Given the description of an element on the screen output the (x, y) to click on. 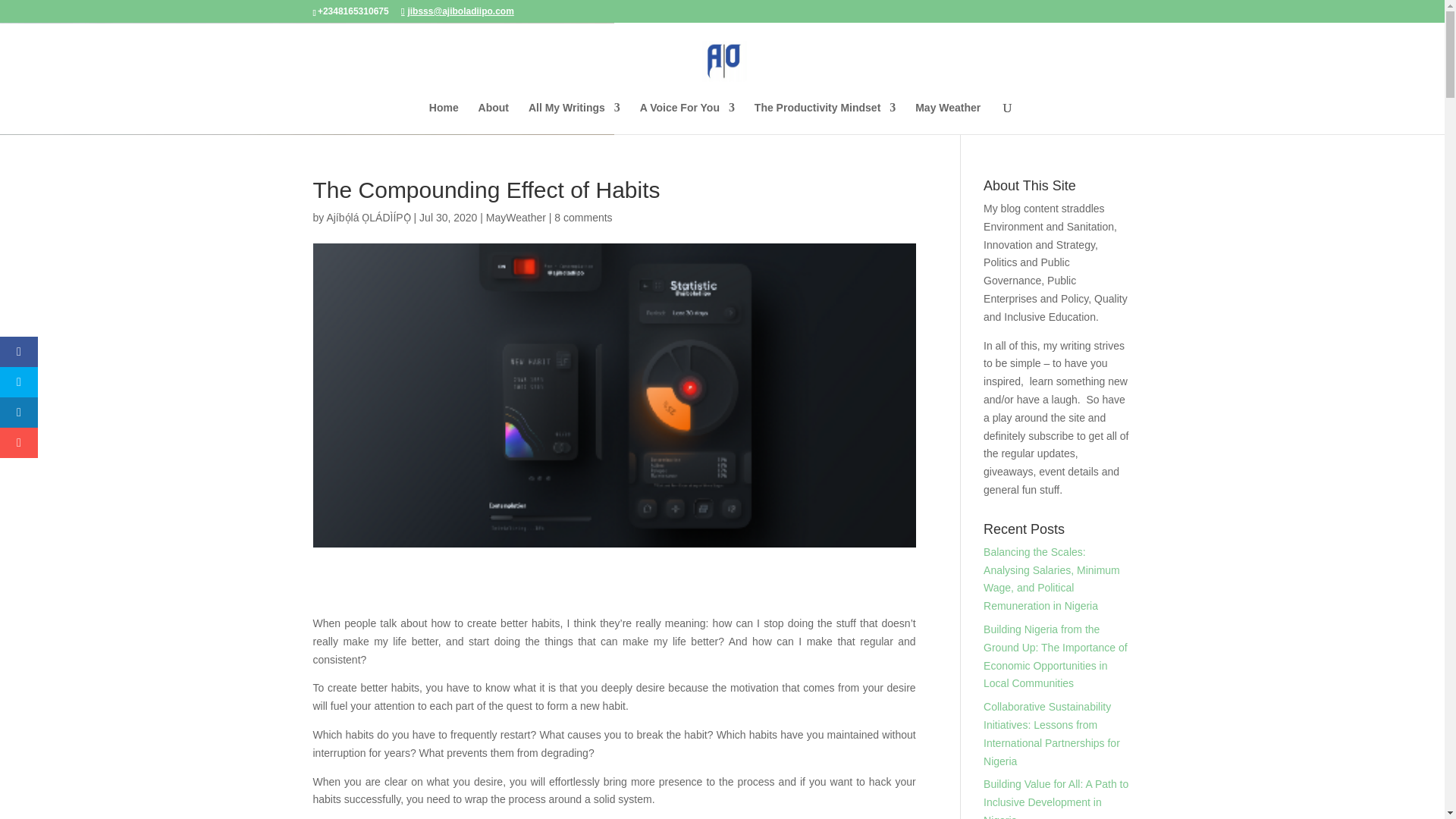
A Voice For You (687, 118)
MayWeather (516, 217)
About (493, 118)
All My Writings (574, 118)
The Productivity Mindset (824, 118)
Home (443, 118)
8 comments (582, 217)
May Weather (947, 118)
